Given the description of an element on the screen output the (x, y) to click on. 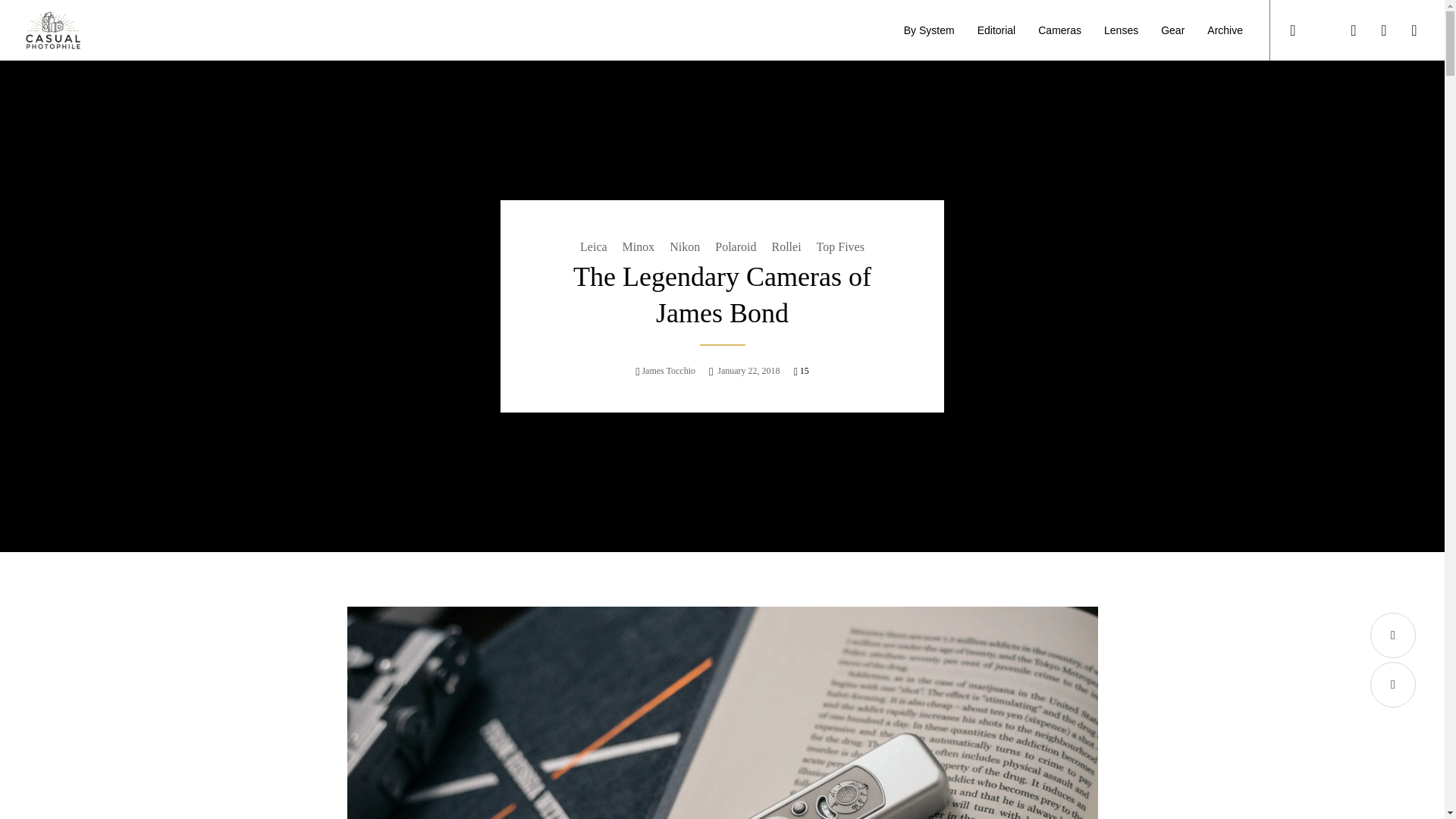
Cameras (1059, 30)
Editorial (996, 30)
By System (929, 30)
